Given the description of an element on the screen output the (x, y) to click on. 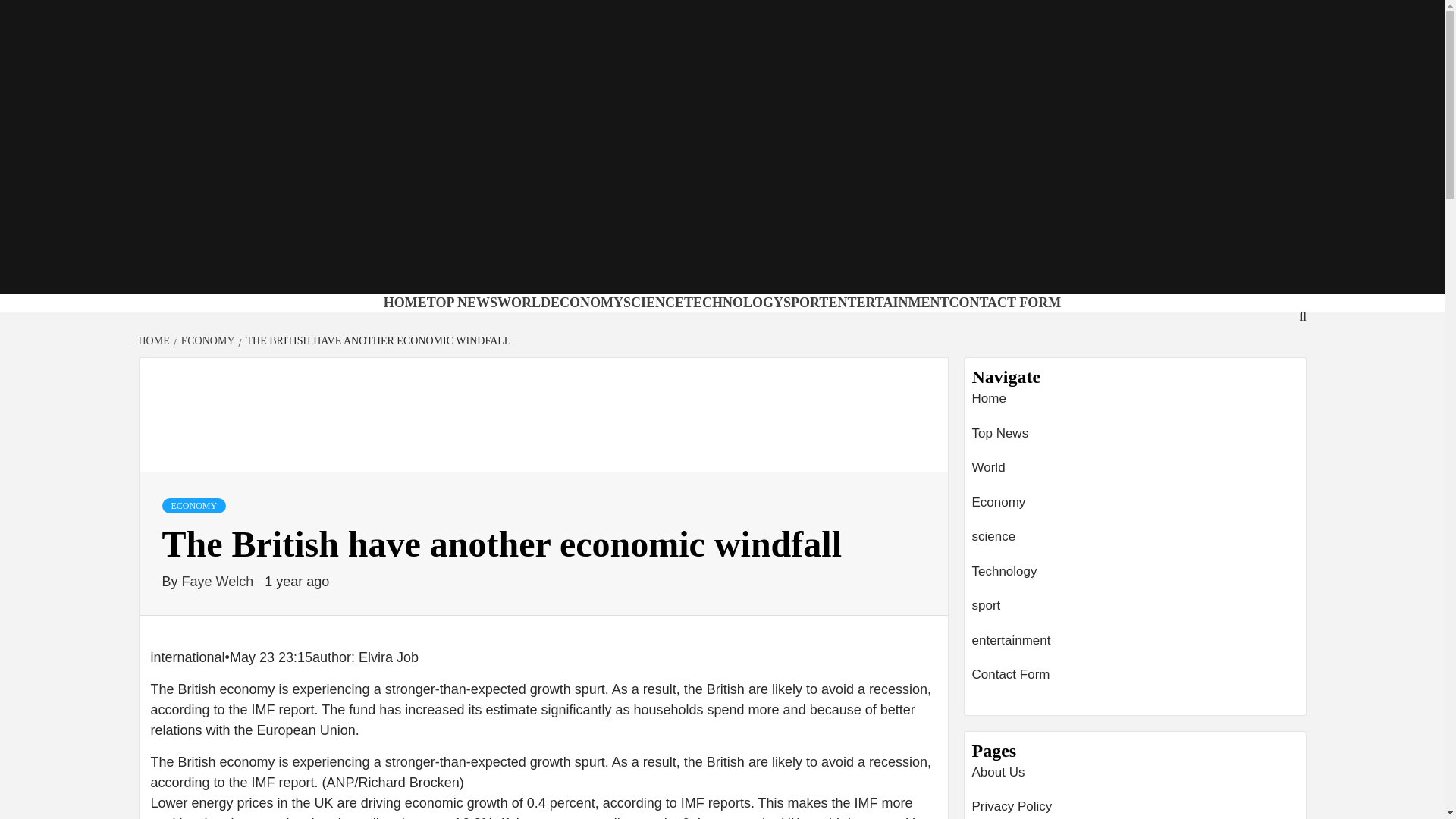
ECONOMY (586, 302)
The British have another economic windfall (543, 414)
HOME (405, 302)
CONTACT FORM (1005, 302)
SPORT (805, 302)
TECHNOLOGY (733, 302)
WORLD (523, 302)
ECONOMY (205, 340)
Faye Welch (219, 581)
ENTERTAINMENT (888, 302)
